Given the description of an element on the screen output the (x, y) to click on. 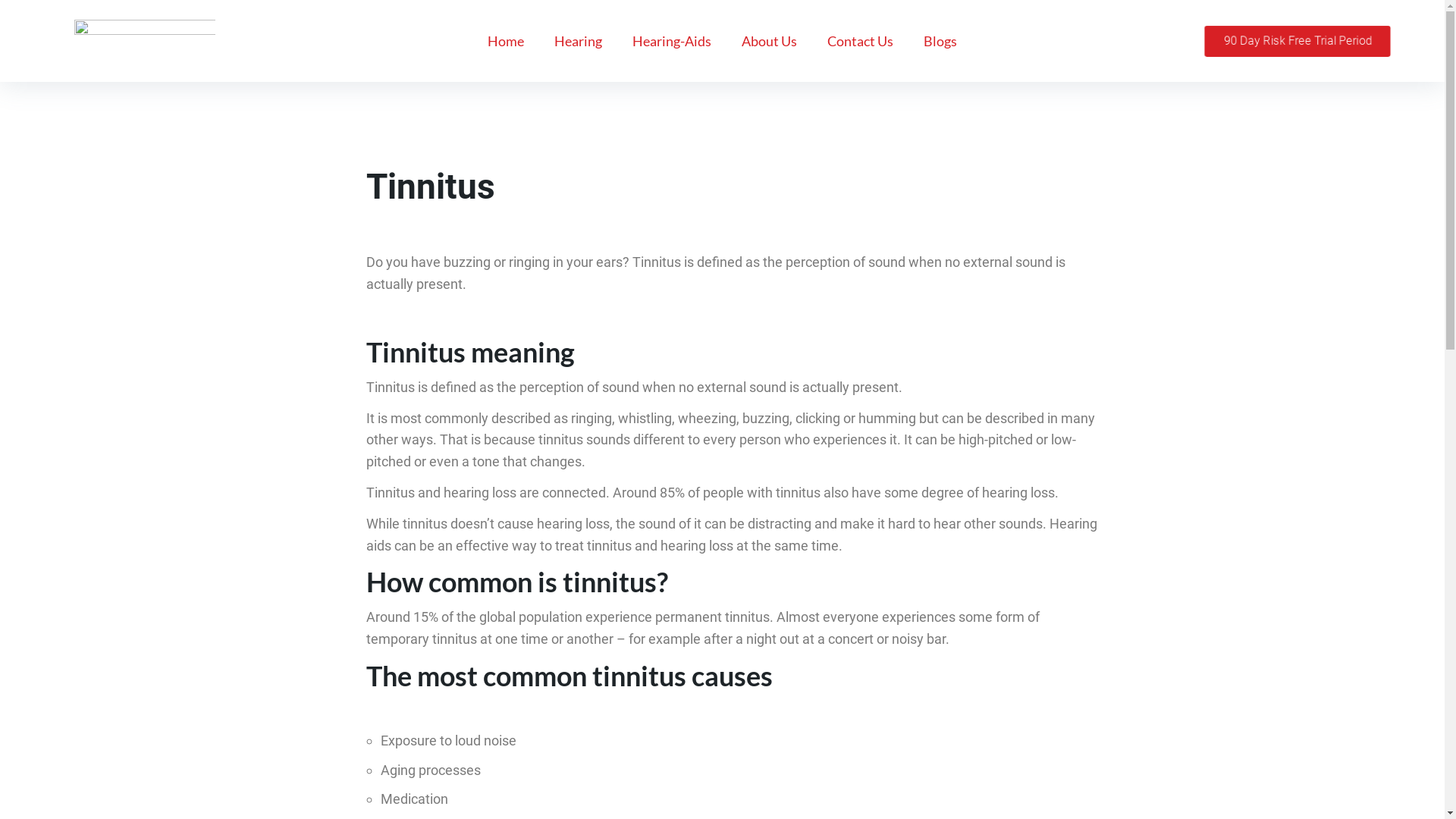
About Us Element type: text (769, 41)
90 Day Risk Free Trial Period Element type: text (1306, 42)
Home Element type: text (505, 41)
Contact Us Element type: text (860, 41)
Hearing-Aids Element type: text (671, 41)
Blogs Element type: text (940, 41)
Hearing Element type: text (578, 41)
